Given the description of an element on the screen output the (x, y) to click on. 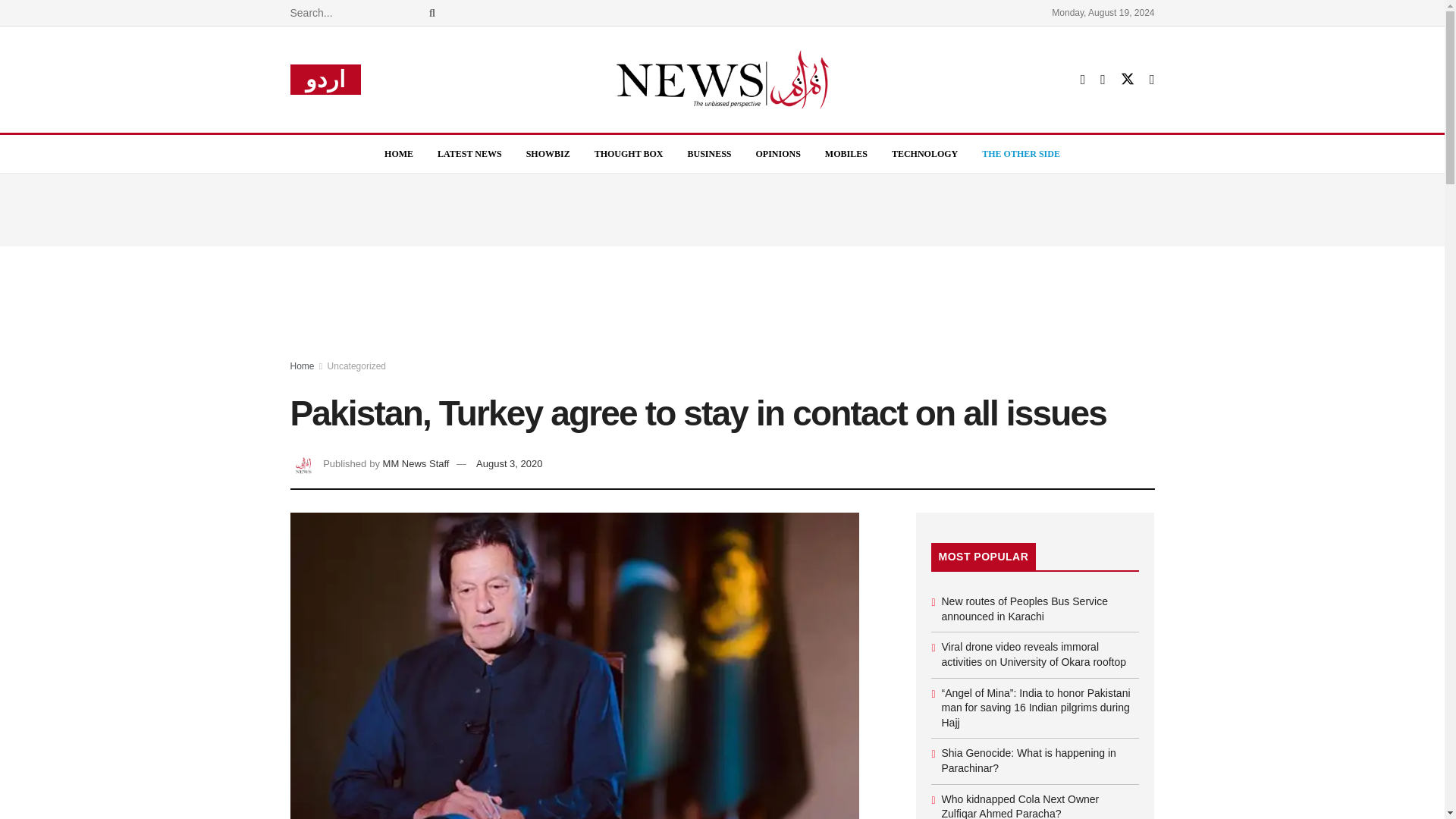
MOBILES (845, 153)
SHOWBIZ (547, 153)
BUSINESS (708, 153)
HOME (398, 153)
LATEST NEWS (469, 153)
THOUGHT BOX (628, 153)
TECHNOLOGY (924, 153)
THE OTHER SIDE (1020, 153)
OPINIONS (778, 153)
